Given the description of an element on the screen output the (x, y) to click on. 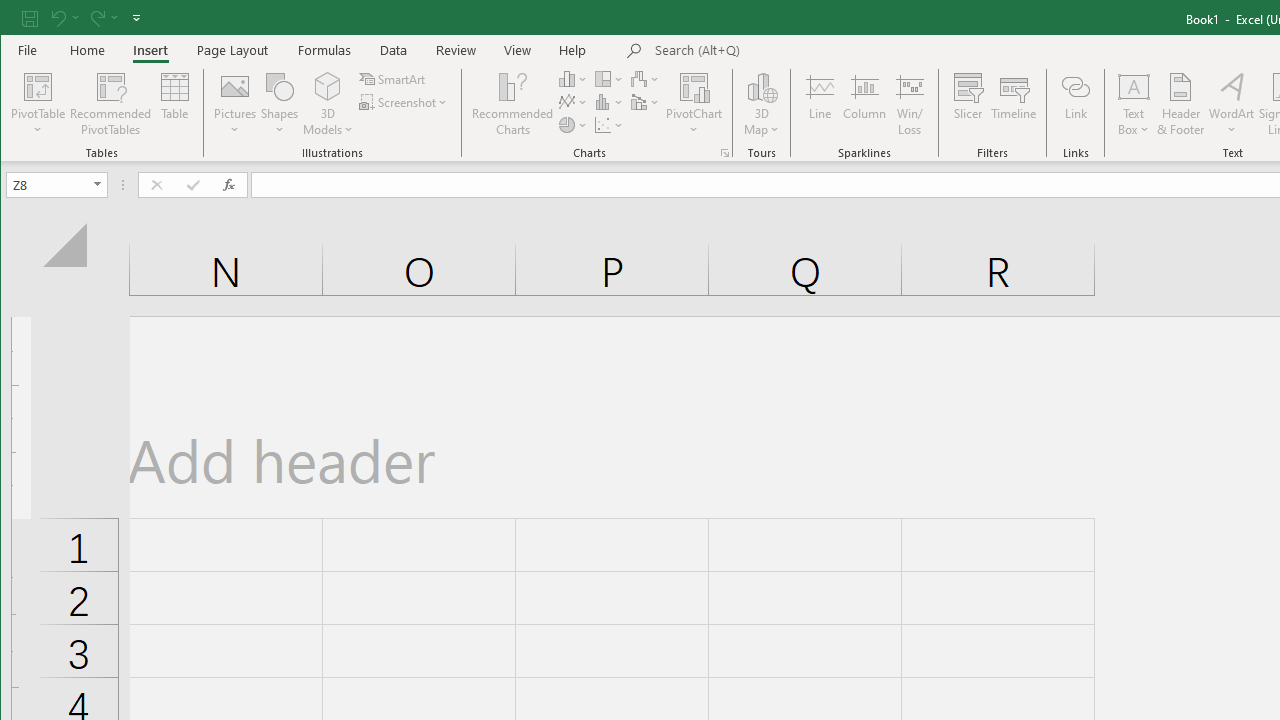
3D Map (762, 86)
Column (864, 104)
Insert Line or Area Chart (573, 101)
PivotChart (694, 86)
Insert Hierarchy Chart (609, 78)
Timeline (1014, 104)
Insert Column or Bar Chart (573, 78)
Win/Loss (909, 104)
Recommended PivotTables (110, 104)
